Given the description of an element on the screen output the (x, y) to click on. 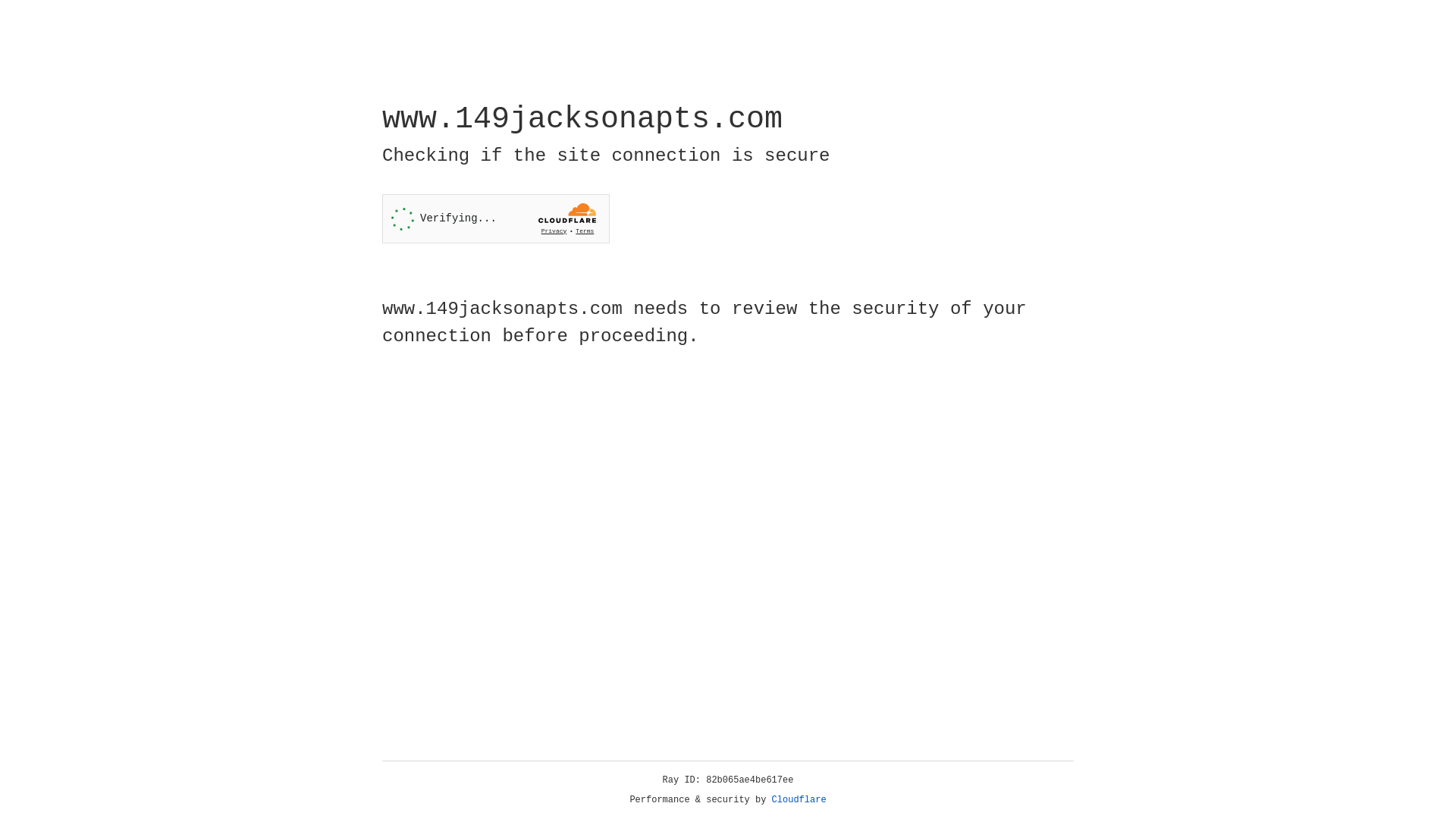
Cloudflare Element type: text (798, 799)
Widget containing a Cloudflare security challenge Element type: hover (495, 218)
